Given the description of an element on the screen output the (x, y) to click on. 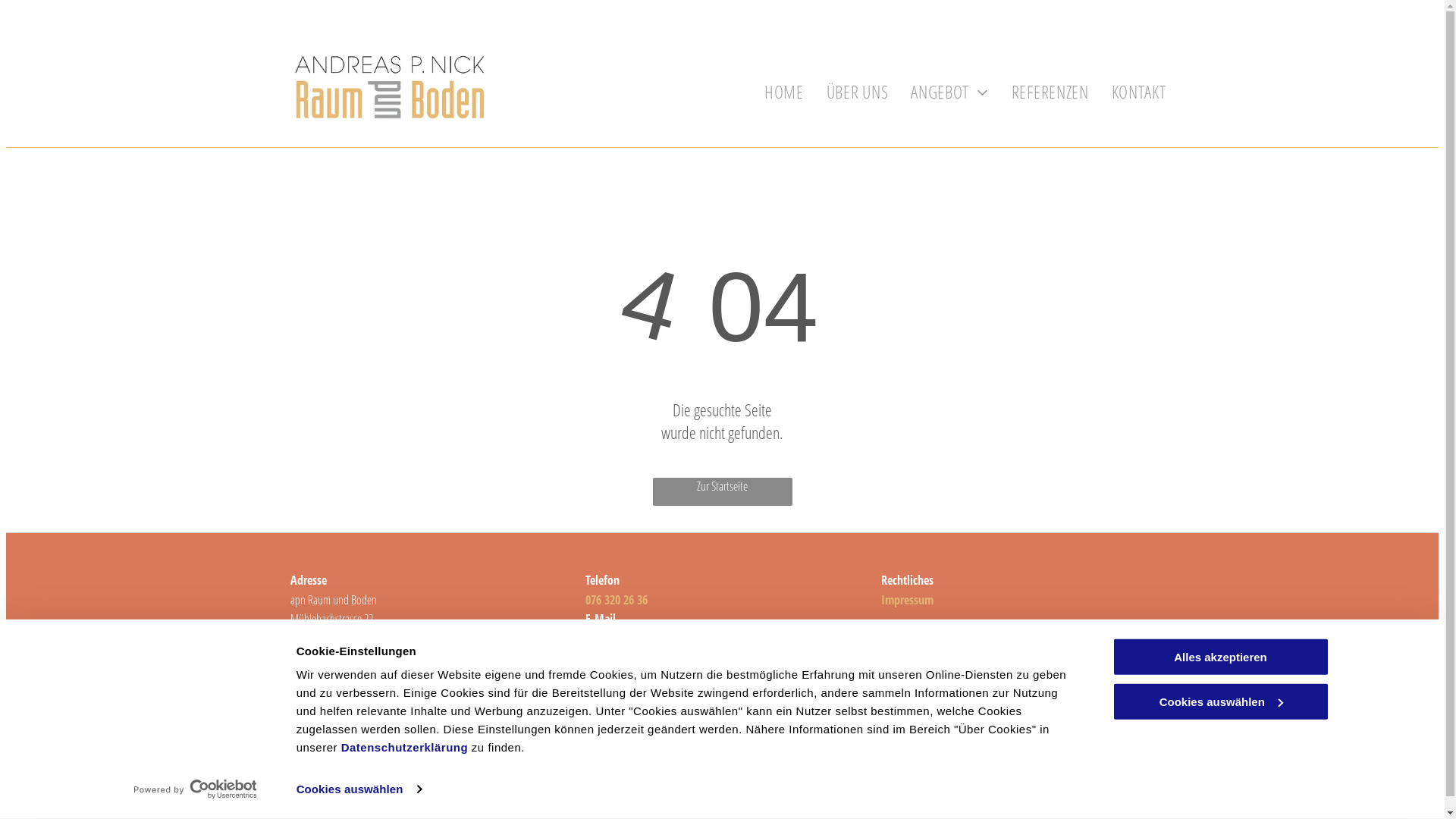
KONTAKT Element type: text (1138, 91)
HOME Element type: text (783, 91)
ANGEBOT Element type: text (949, 91)
info@apn-raumundboden.ch Element type: text (652, 638)
Impressum Element type: text (907, 599)
076 320 26 36 Element type: text (616, 599)
REFERENZEN Element type: text (1049, 91)
Zur Startseite Element type: text (721, 491)
Alles akzeptieren Element type: text (1219, 656)
